Given the description of an element on the screen output the (x, y) to click on. 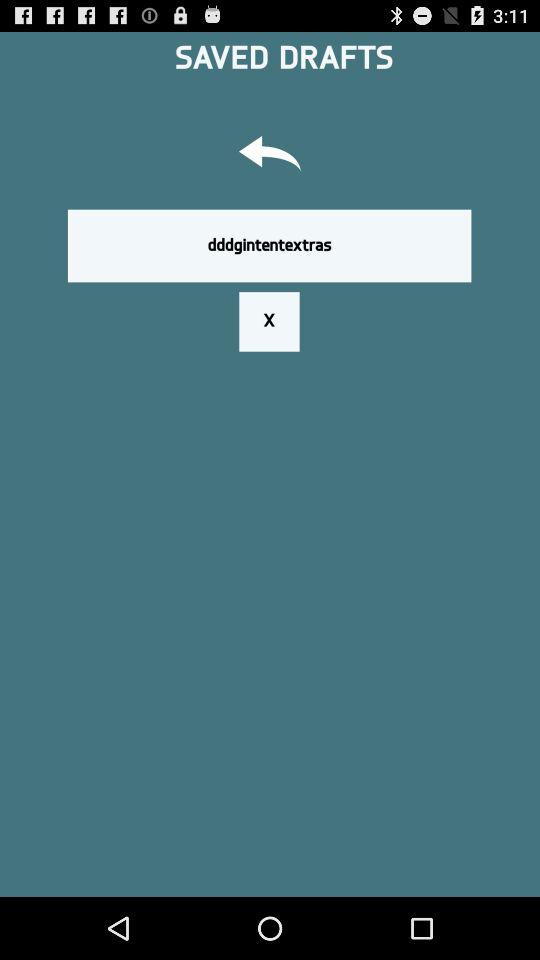
turn off dddgintentextras (269, 245)
